Given the description of an element on the screen output the (x, y) to click on. 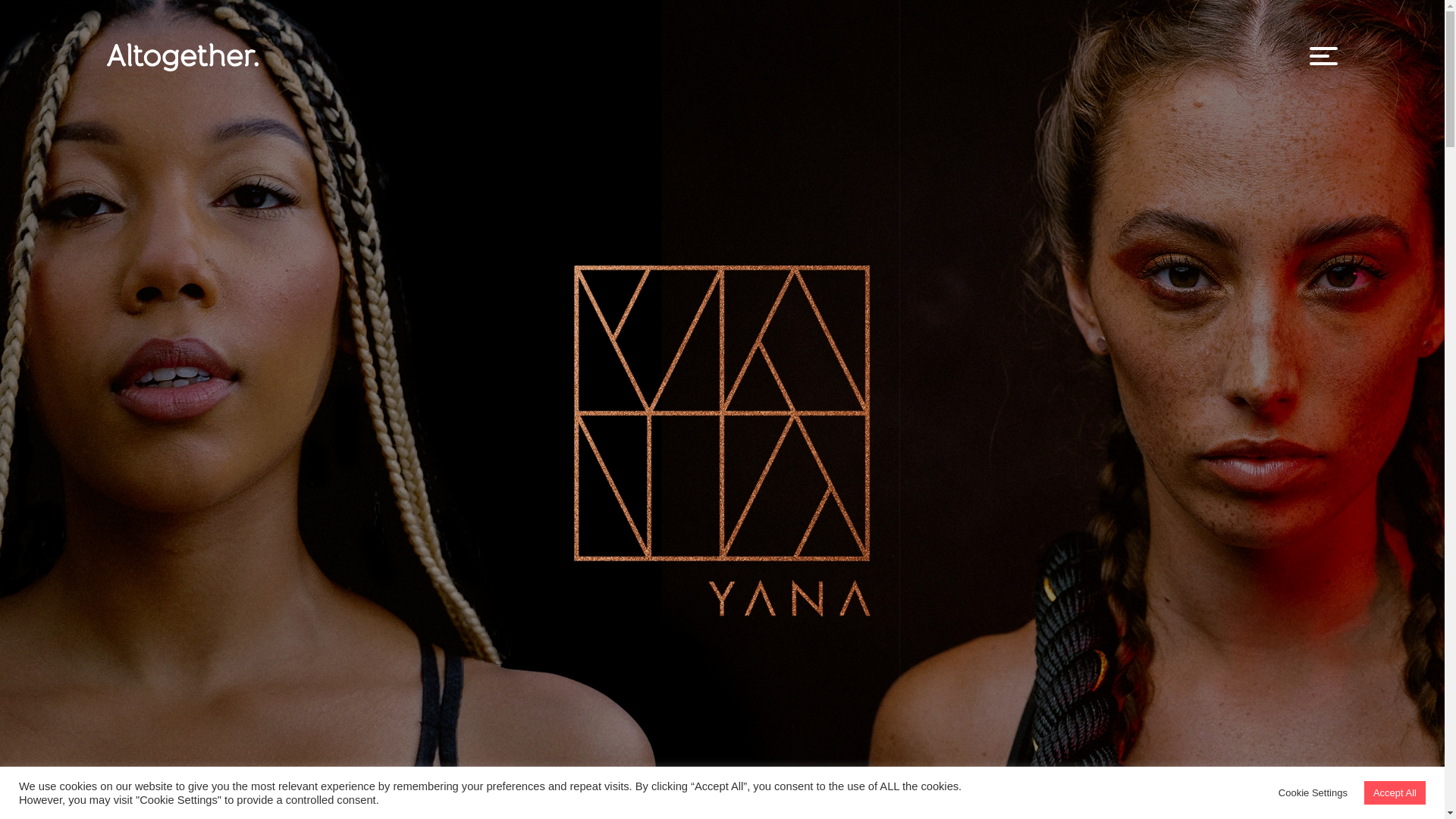
Cookie Settings (1312, 792)
Accept All (1394, 792)
